Given the description of an element on the screen output the (x, y) to click on. 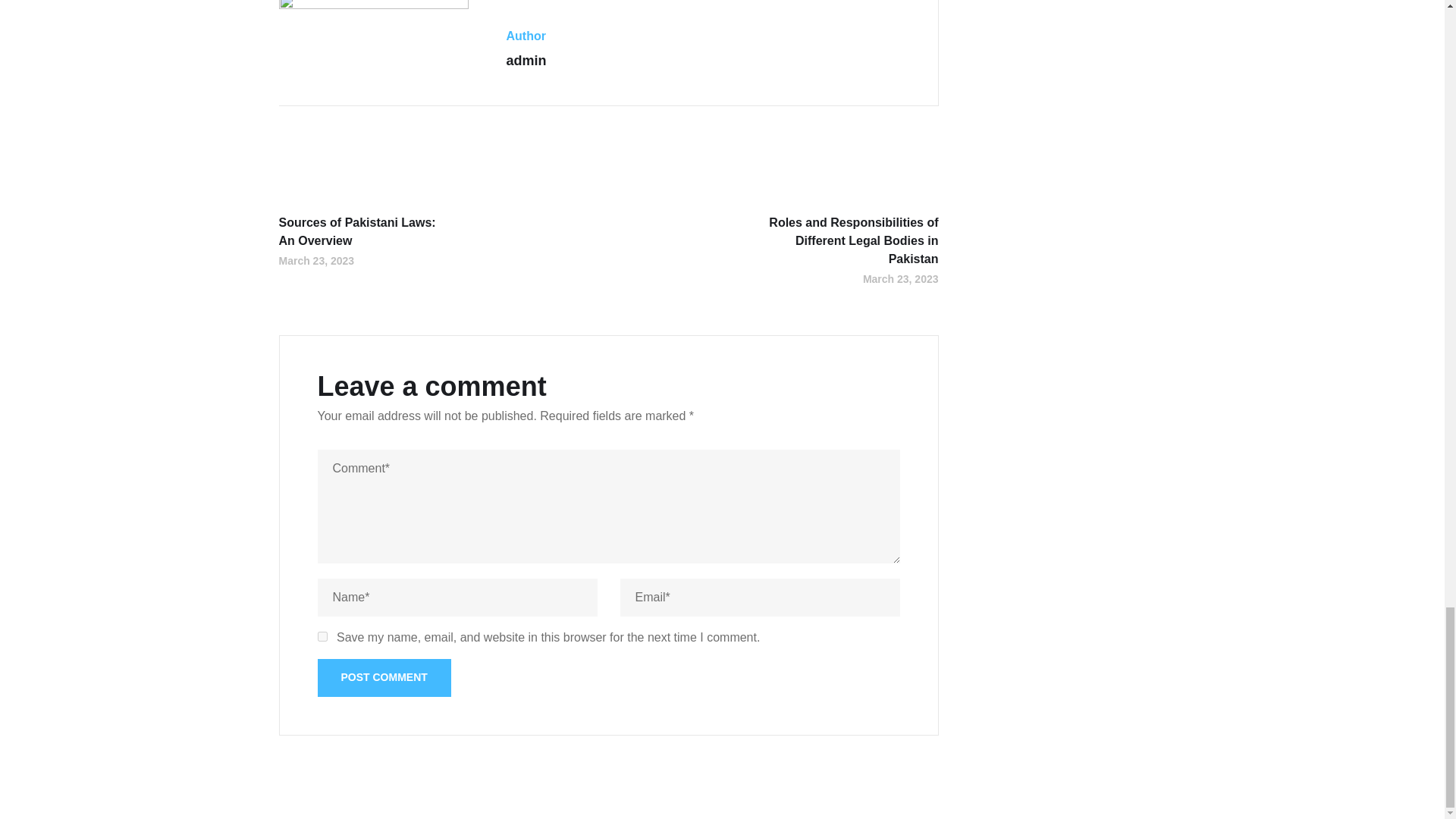
Post Comment (383, 677)
yes (321, 636)
Post Comment (383, 677)
